Given the description of an element on the screen output the (x, y) to click on. 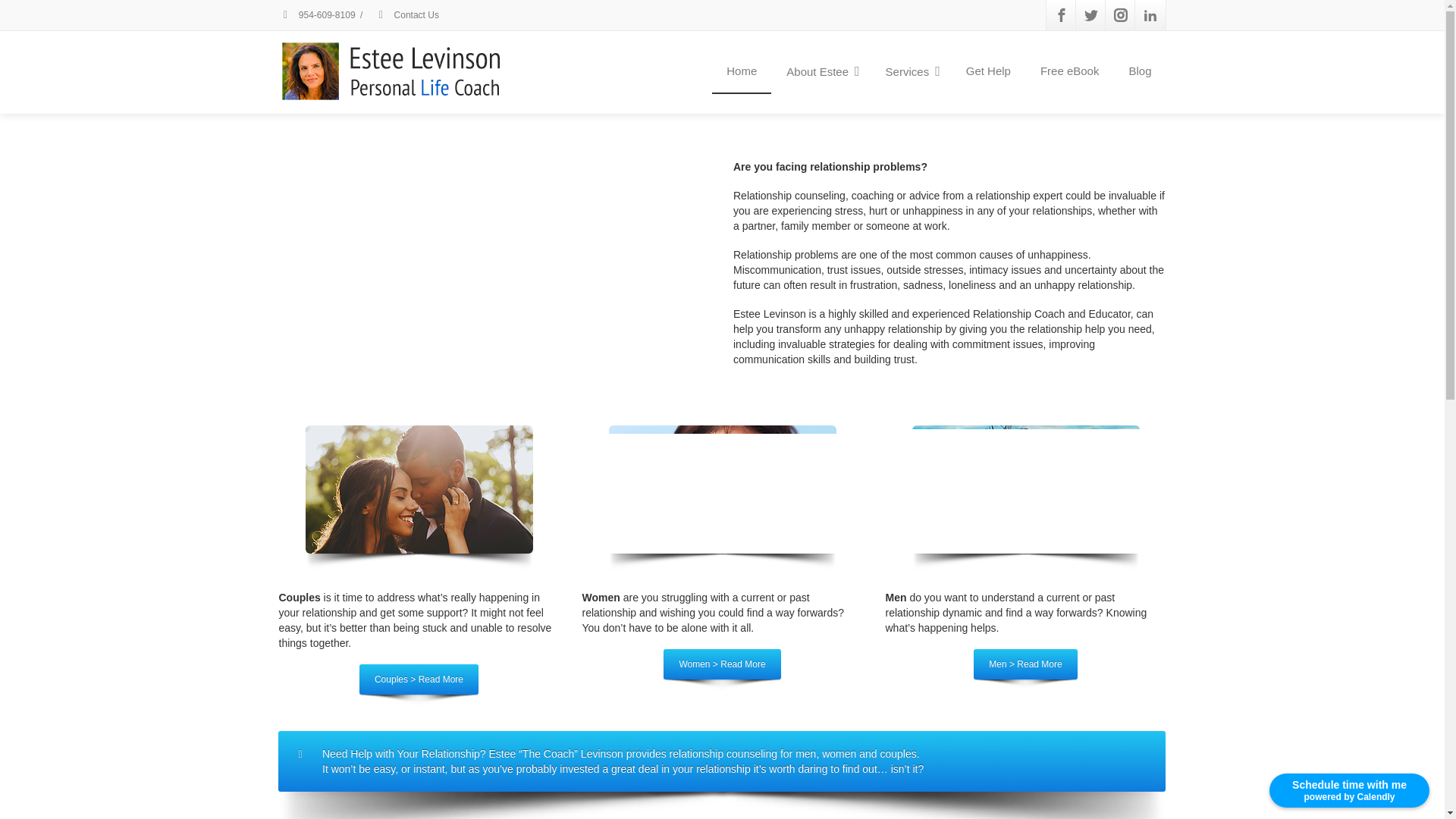
Facebook (1061, 15)
Get Help (988, 71)
Contact Us (406, 14)
Blog (1139, 71)
954-609-8109 (317, 14)
Free eBook (1069, 71)
Home (741, 71)
Services (910, 72)
Twitter (1090, 15)
Estee The Coach Levinson (494, 280)
